Given the description of an element on the screen output the (x, y) to click on. 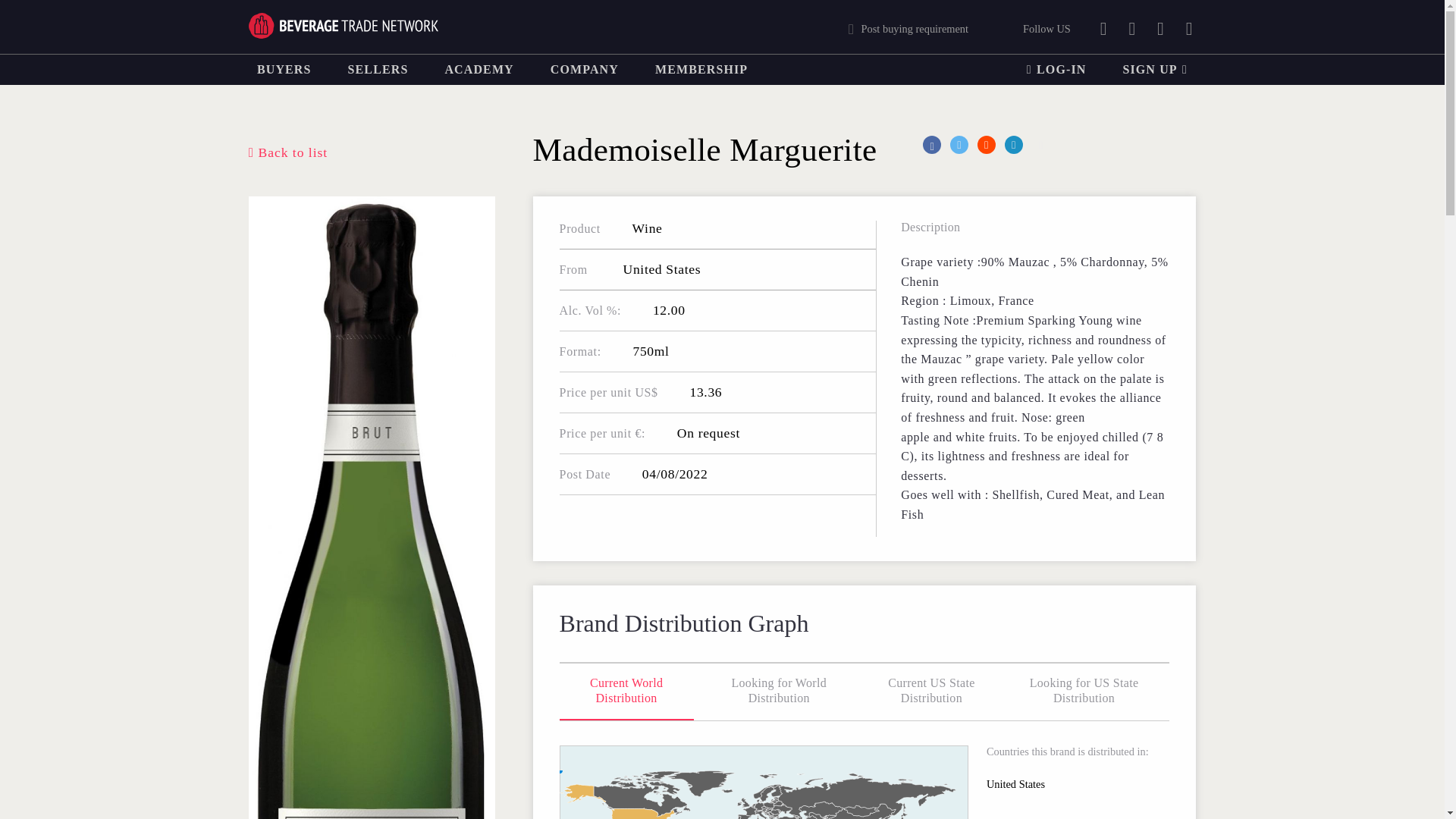
BUYERS (284, 69)
SELLERS (377, 69)
Wine (646, 227)
Looking for World Distribution (778, 691)
Share on Reddit (985, 144)
Share on Reddit (985, 144)
View all Brands of this Variety (646, 227)
Current US State Distribution (931, 691)
Share on Pinterest (1039, 144)
Share on Facebook (931, 144)
View all Brands from this Country (660, 268)
United States (660, 268)
Current World Distribution (626, 691)
ACADEMY (478, 69)
Beverage Trade Network (343, 25)
